Given the description of an element on the screen output the (x, y) to click on. 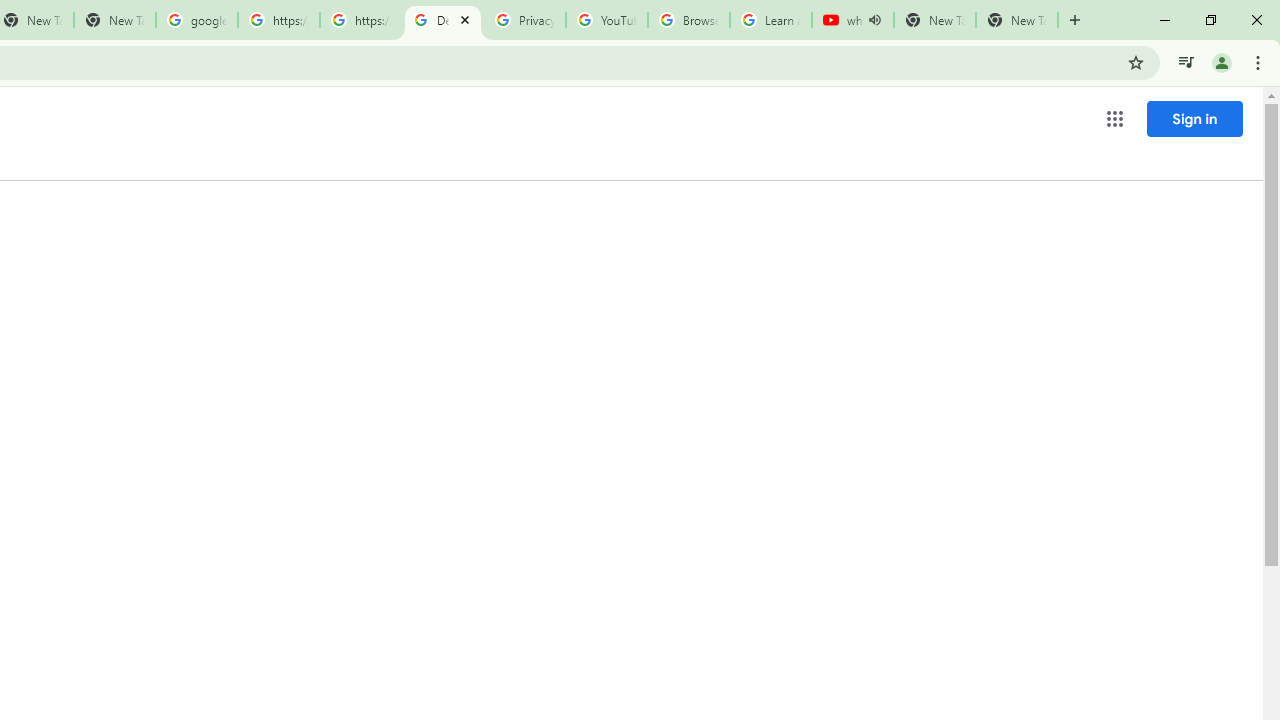
YouTube (606, 20)
New Tab (1016, 20)
